Given the description of an element on the screen output the (x, y) to click on. 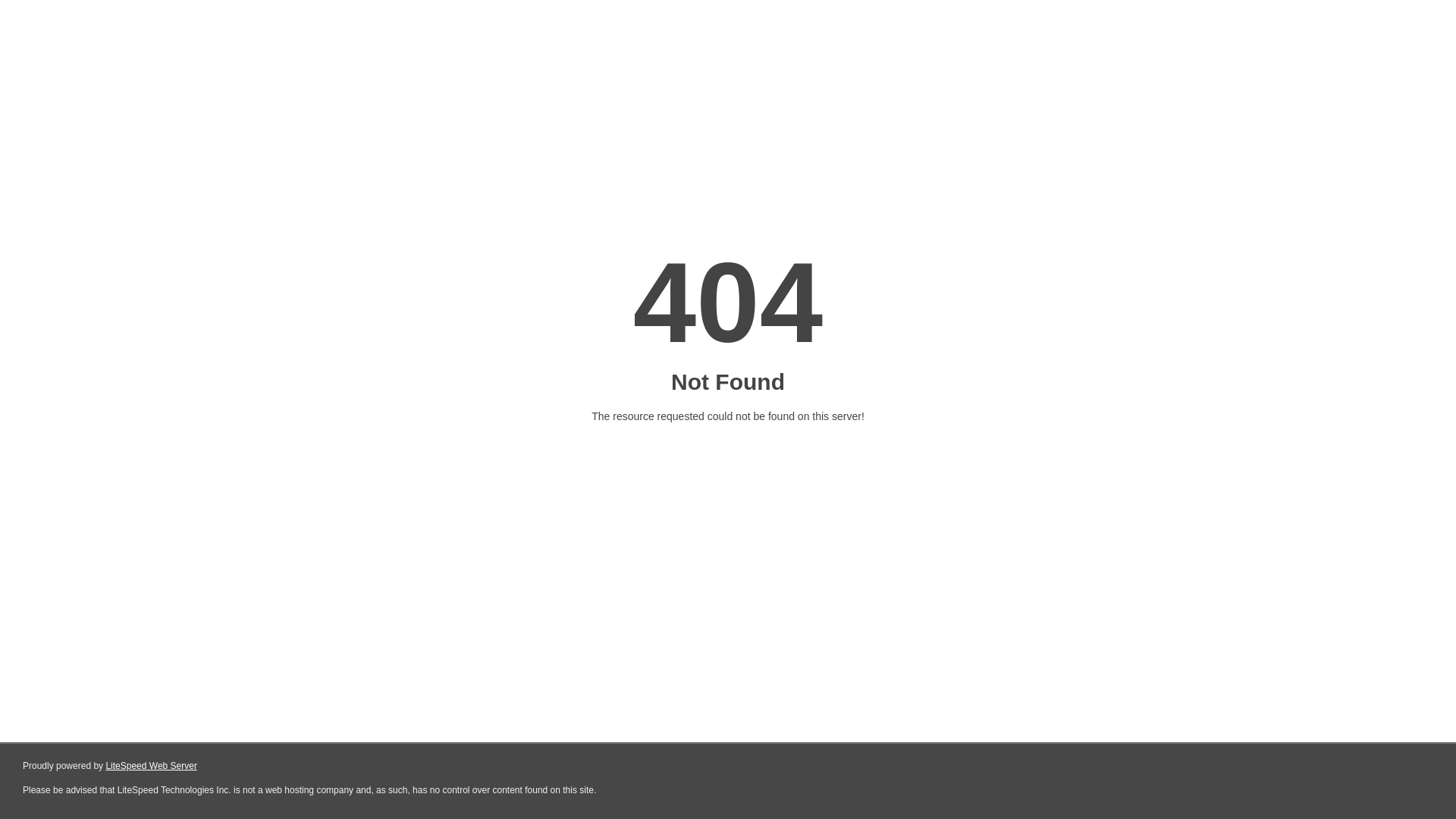
LiteSpeed Web Server Element type: text (151, 765)
